Given the description of an element on the screen output the (x, y) to click on. 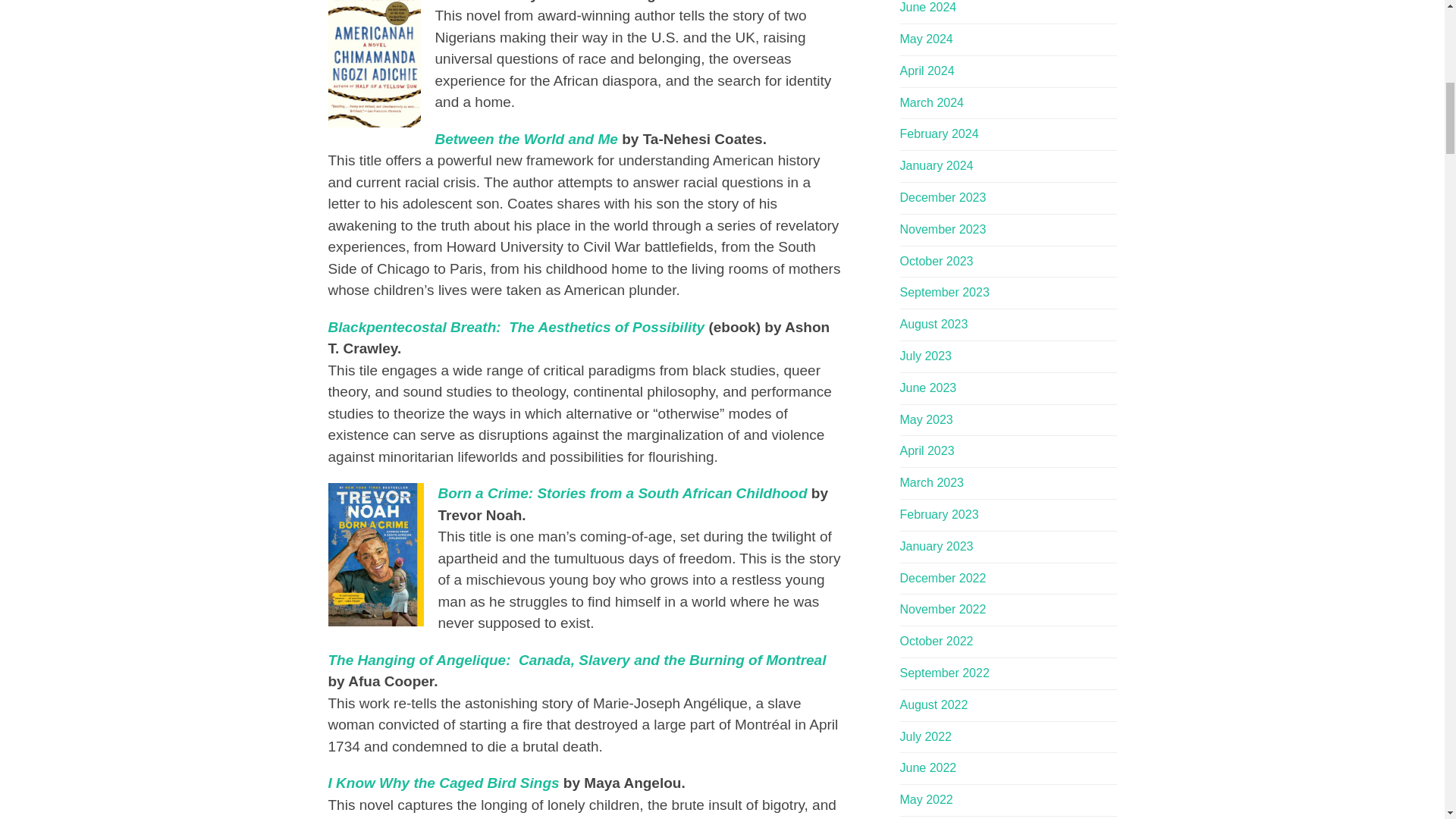
Between the World and Me (526, 139)
Blackpentecostal Breath:  The Aesthetics of Possibility (515, 326)
I Know Why the Caged Bird Sings (443, 782)
Americanah (476, 1)
Born a Crime: Stories from a South African Childhood (623, 493)
